Given the description of an element on the screen output the (x, y) to click on. 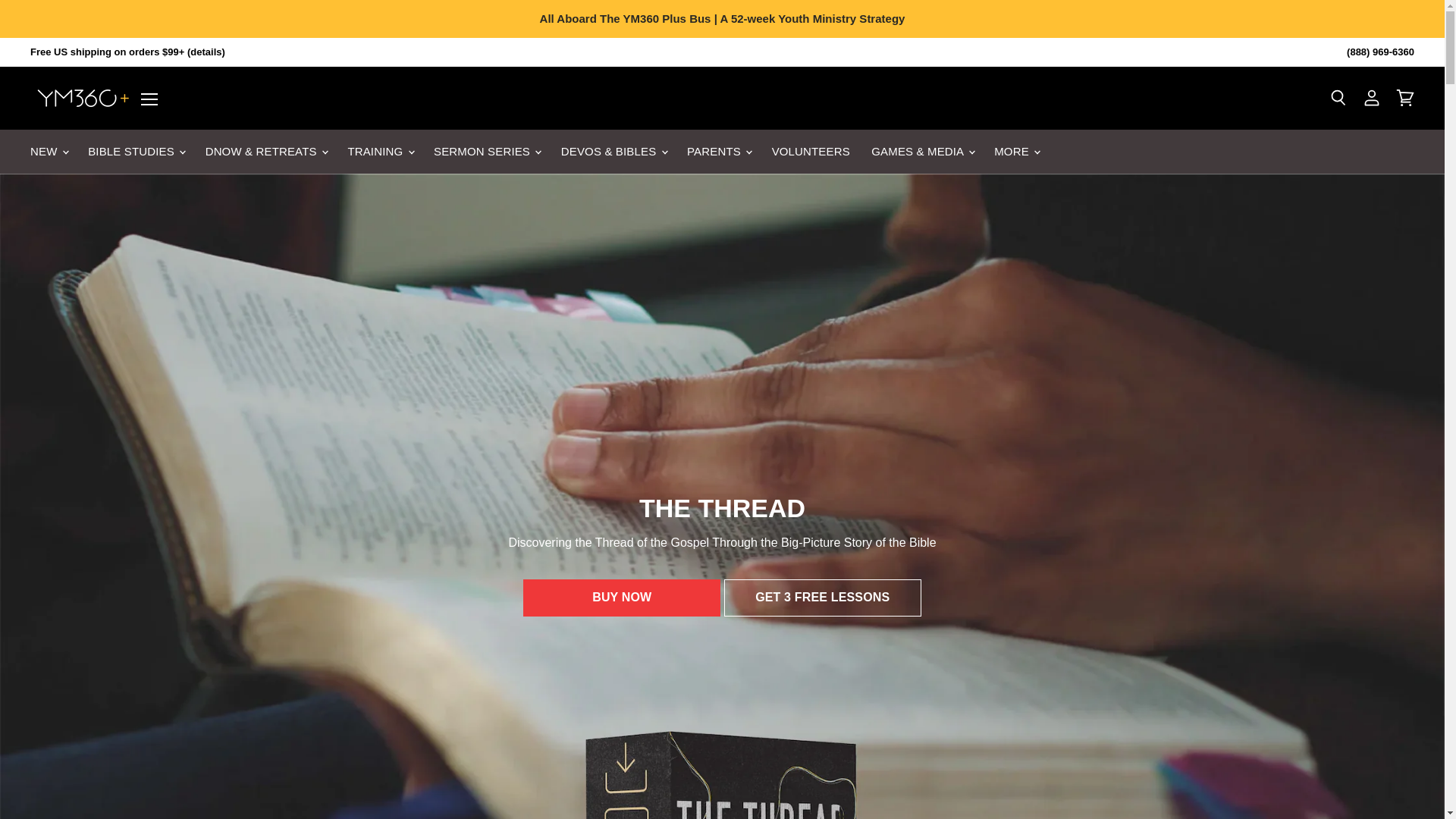
View account (1372, 98)
NEW (48, 151)
Menu (149, 98)
BIBLE STUDIES (135, 151)
View cart (1405, 98)
Search (1338, 98)
